Given the description of an element on the screen output the (x, y) to click on. 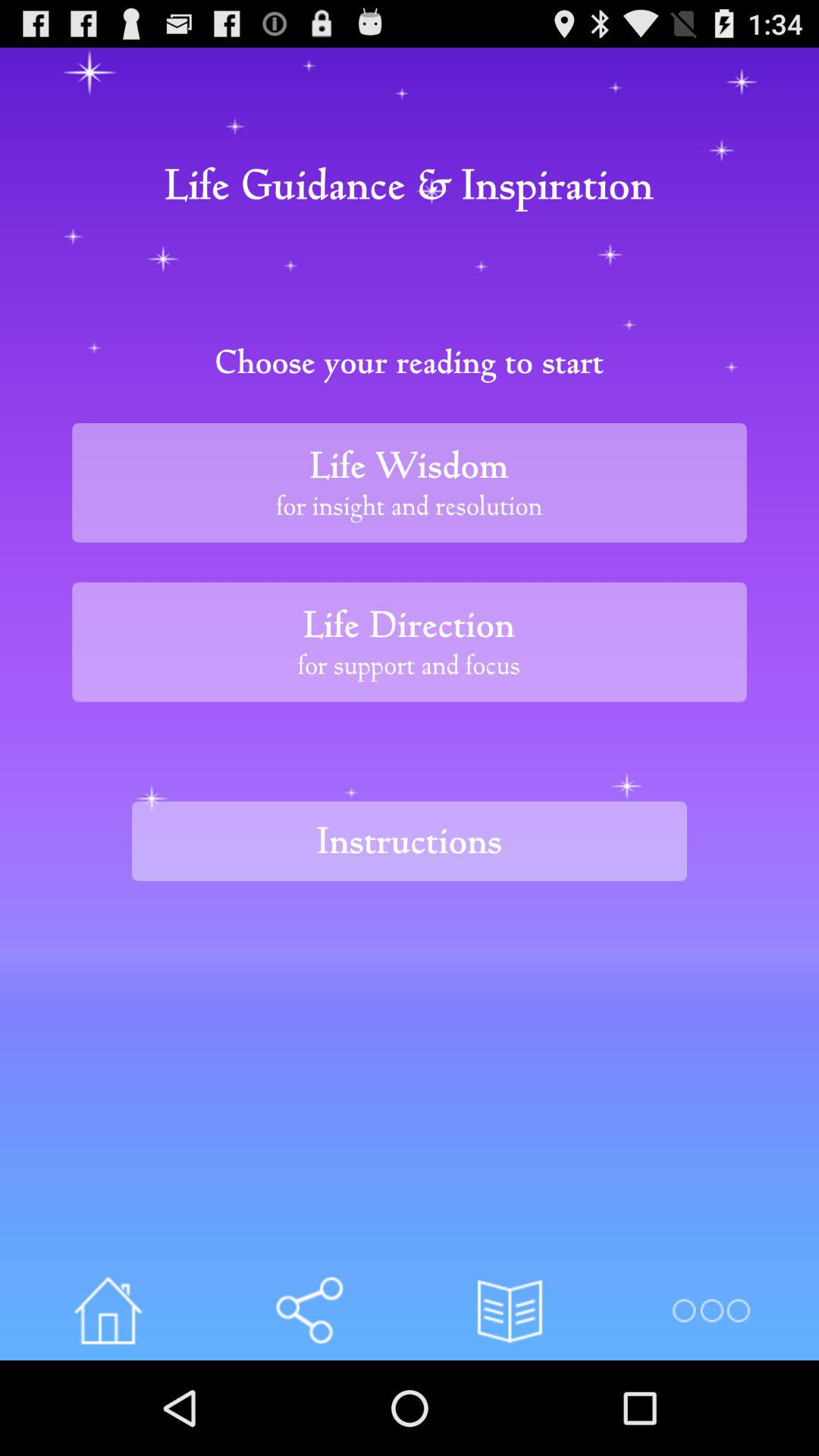
turn off the button below the instructions item (509, 1310)
